Given the description of an element on the screen output the (x, y) to click on. 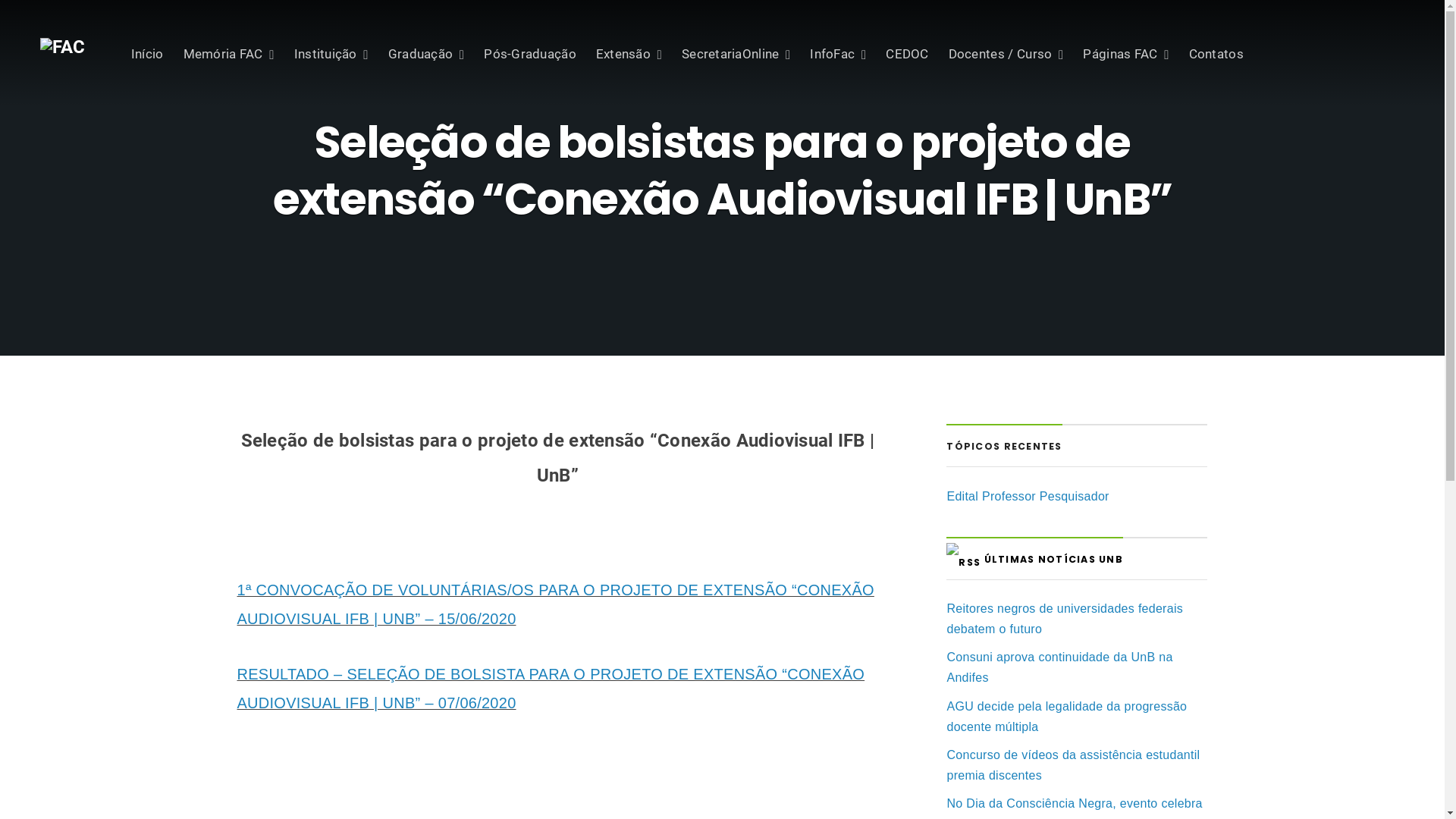
SecretariaOnline Element type: text (735, 53)
Docentes / Curso Element type: text (1005, 53)
CEDOC Element type: text (906, 53)
InfoFac Element type: text (837, 53)
Reitores negros de universidades federais debatem o futuro Element type: text (1064, 618)
Contatos Element type: text (1216, 53)
Edital Professor Pesquisador Element type: text (1027, 495)
Consuni aprova continuidade da UnB na Andifes Element type: text (1059, 667)
